Given the description of an element on the screen output the (x, y) to click on. 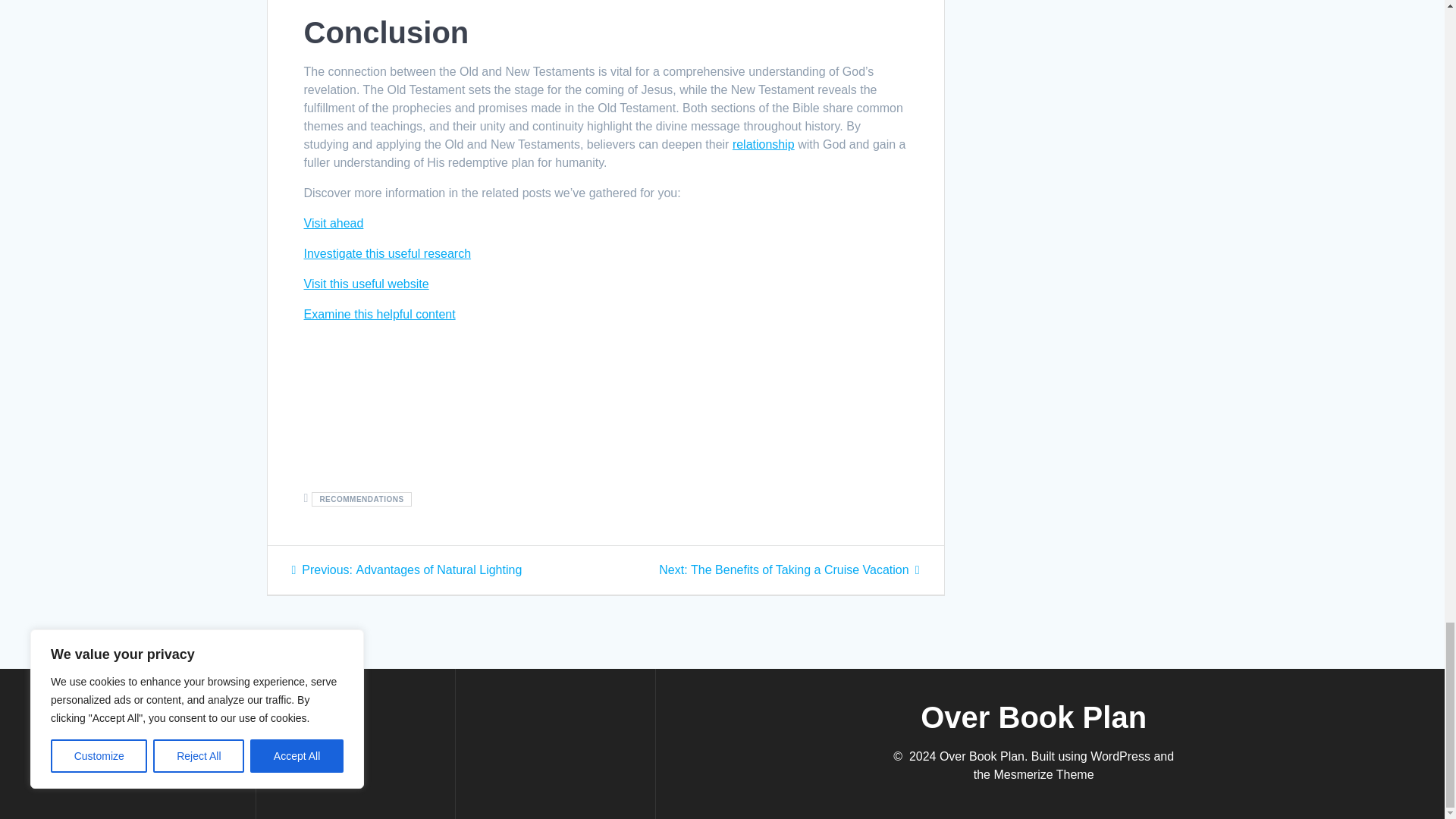
relationship (763, 144)
Examine this helpful content (378, 314)
Visit ahead (406, 569)
Investigate this useful research (332, 223)
Visit this useful website (386, 253)
RECOMMENDATIONS (788, 569)
